Given the description of an element on the screen output the (x, y) to click on. 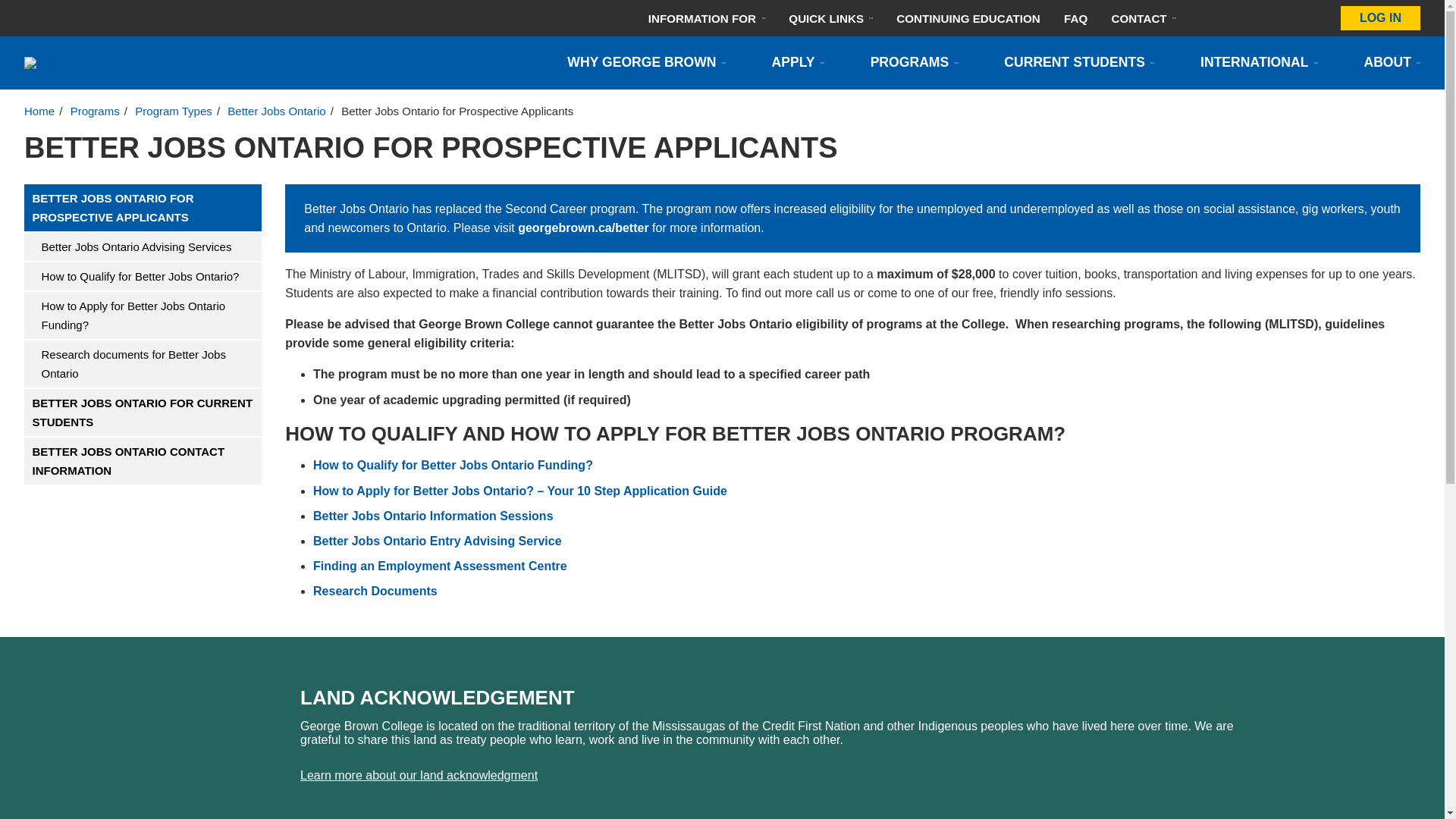
FAQ (1075, 18)
CONTINUING EDUCATION (968, 18)
